Given the description of an element on the screen output the (x, y) to click on. 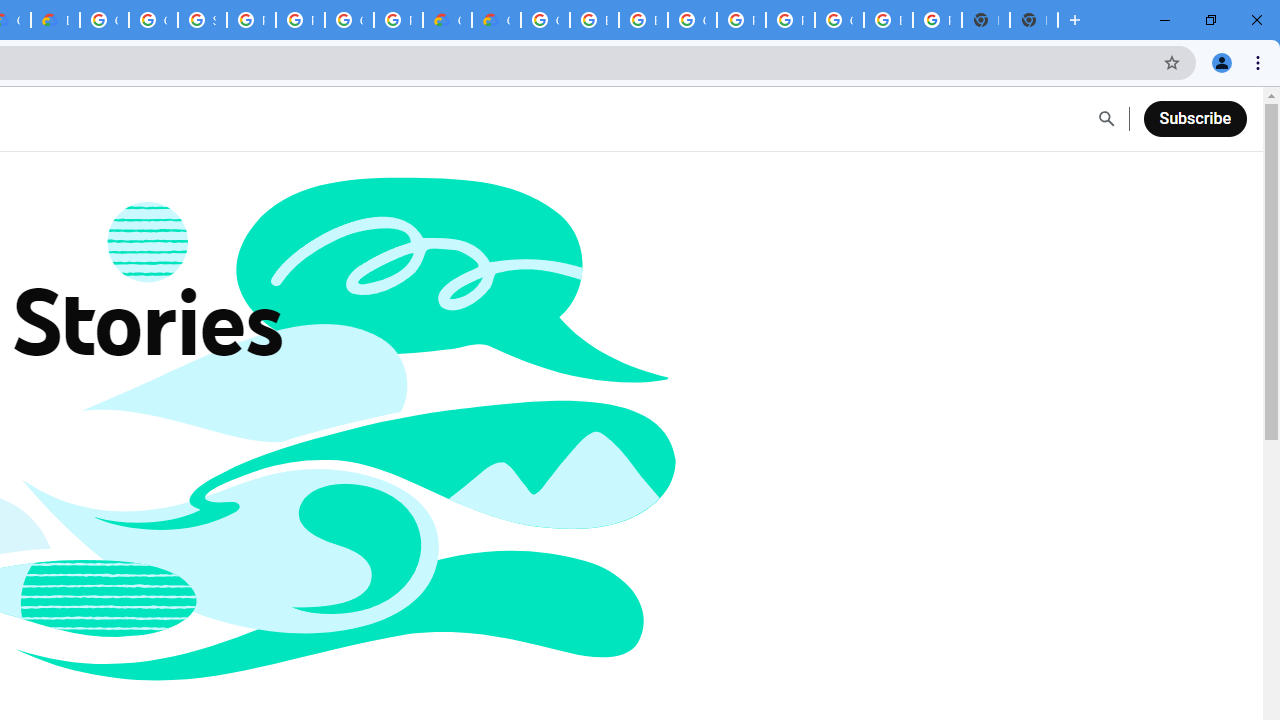
Subscribe (1194, 118)
Google Cloud Platform (104, 20)
Google Cloud Platform (545, 20)
Open Search (1106, 119)
Browse Chrome as a guest - Computer - Google Chrome Help (594, 20)
Google Cloud Platform (839, 20)
Google Cloud Platform (692, 20)
